Given the description of an element on the screen output the (x, y) to click on. 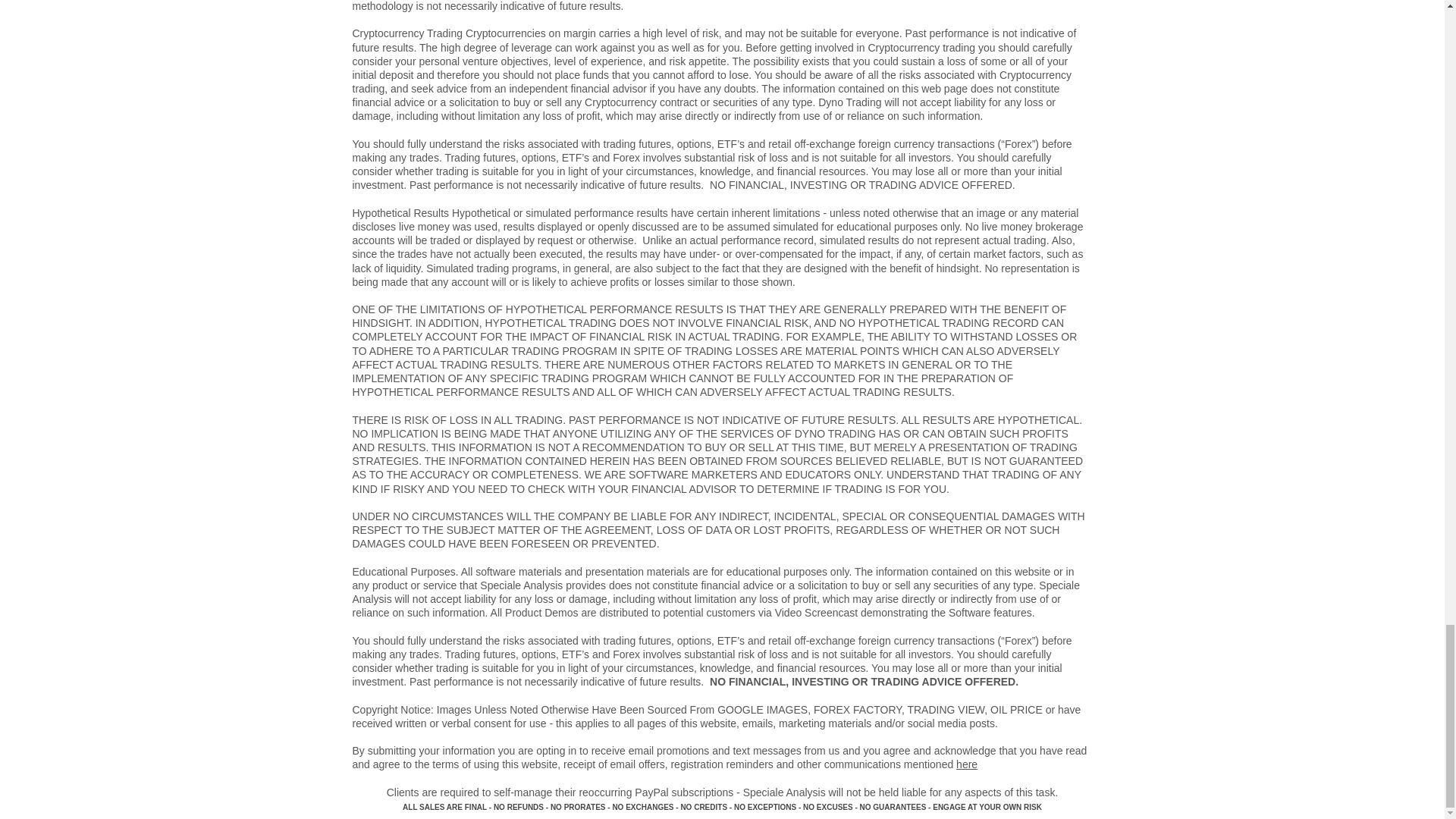
here (966, 764)
